Given the description of an element on the screen output the (x, y) to click on. 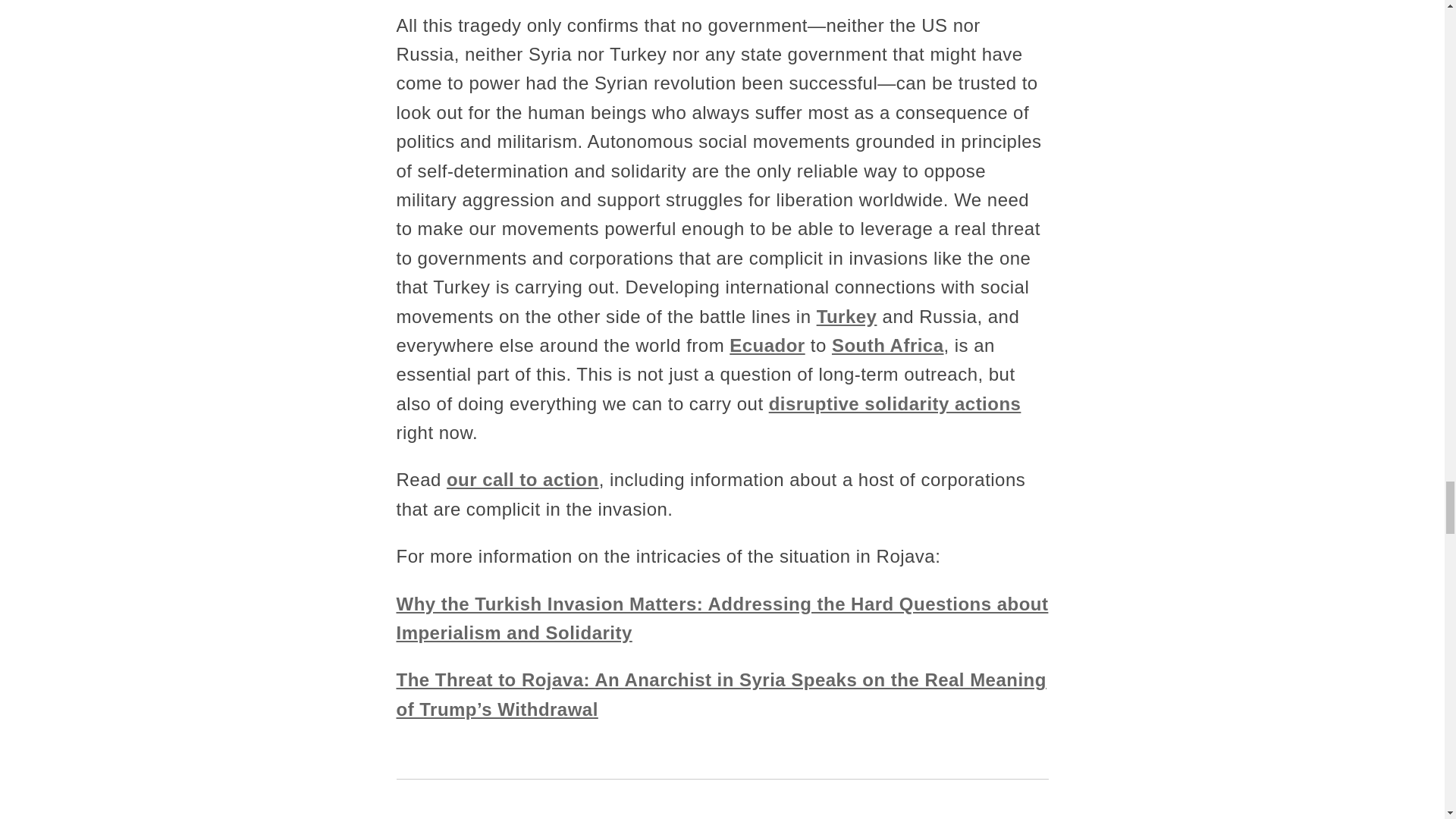
Turkey (846, 316)
our call to action (522, 479)
Ecuador (767, 344)
disruptive solidarity actions (895, 403)
South Africa (887, 344)
